Given the description of an element on the screen output the (x, y) to click on. 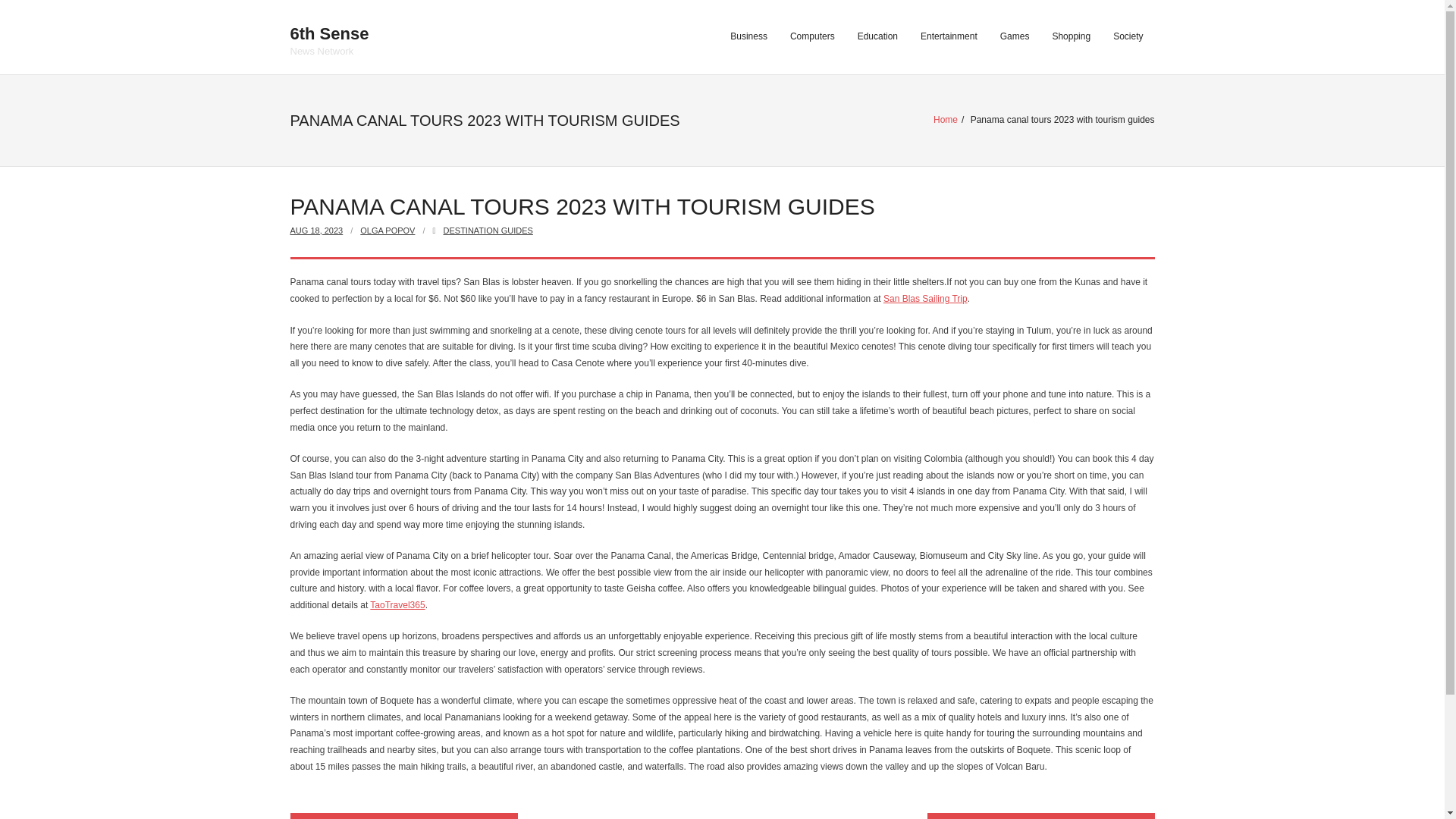
Panama canal tours 2023 with tourism guides (315, 230)
PREVIOUS POST (402, 816)
Computers (811, 37)
Home (945, 119)
TaoTravel365 (397, 604)
DESTINATION GUIDES (488, 230)
View all posts by Olga Popov (386, 230)
AUG 18, 2023 (315, 230)
Entertainment (948, 37)
OLGA POPOV (386, 230)
San Blas Sailing Trip (925, 298)
News Network (328, 35)
NEXT POST (328, 50)
6th Sense (1040, 816)
